Given the description of an element on the screen output the (x, y) to click on. 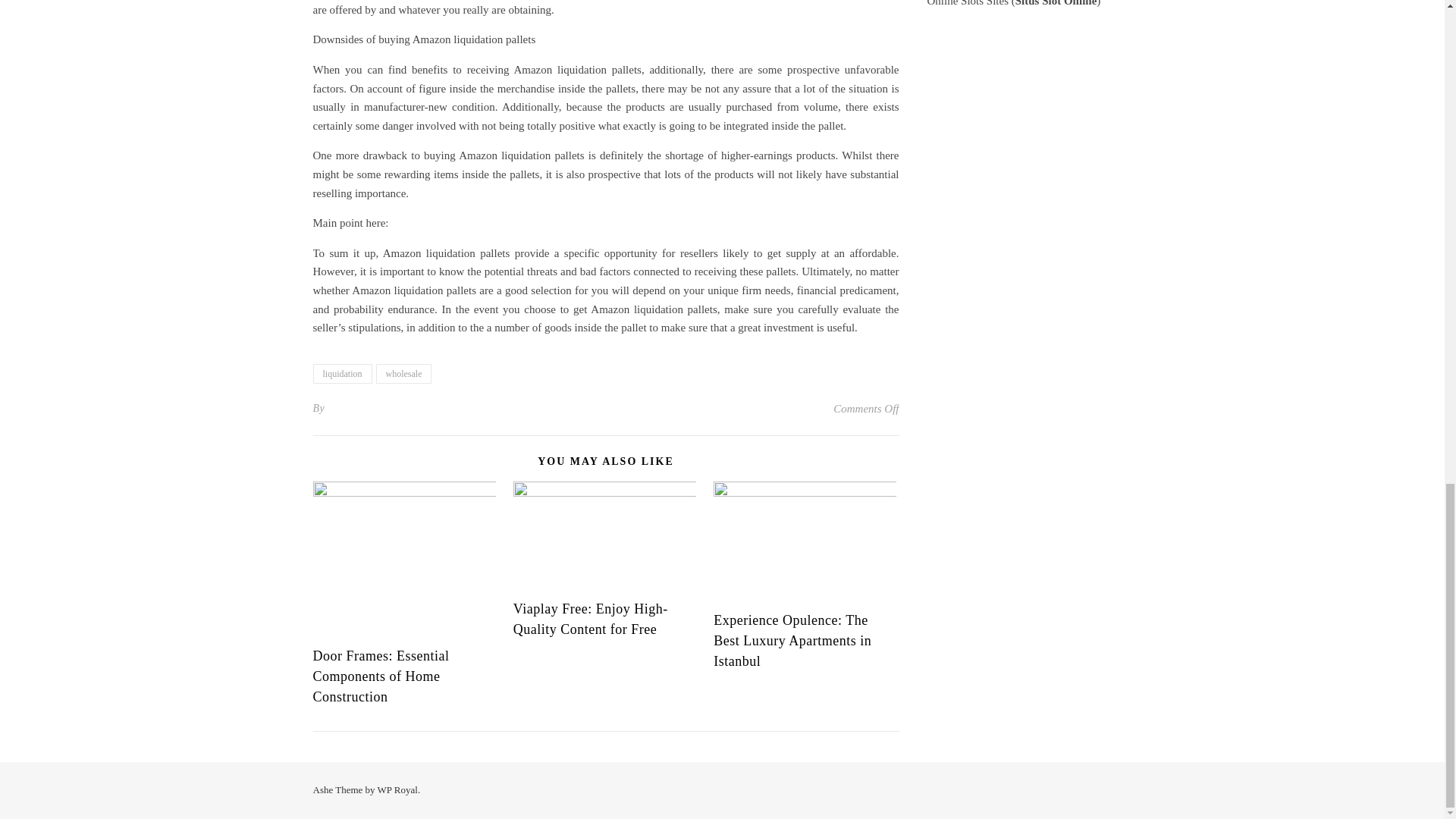
Door Frames: Essential Components of Home Construction (380, 676)
liquidation (342, 373)
Experience Opulence: The Best Luxury Apartments in Istanbul (791, 640)
wholesale (403, 373)
Situs Slot Online (1055, 3)
Viaplay Free: Enjoy High-Quality Content for Free (590, 619)
WP Royal (397, 789)
